Given the description of an element on the screen output the (x, y) to click on. 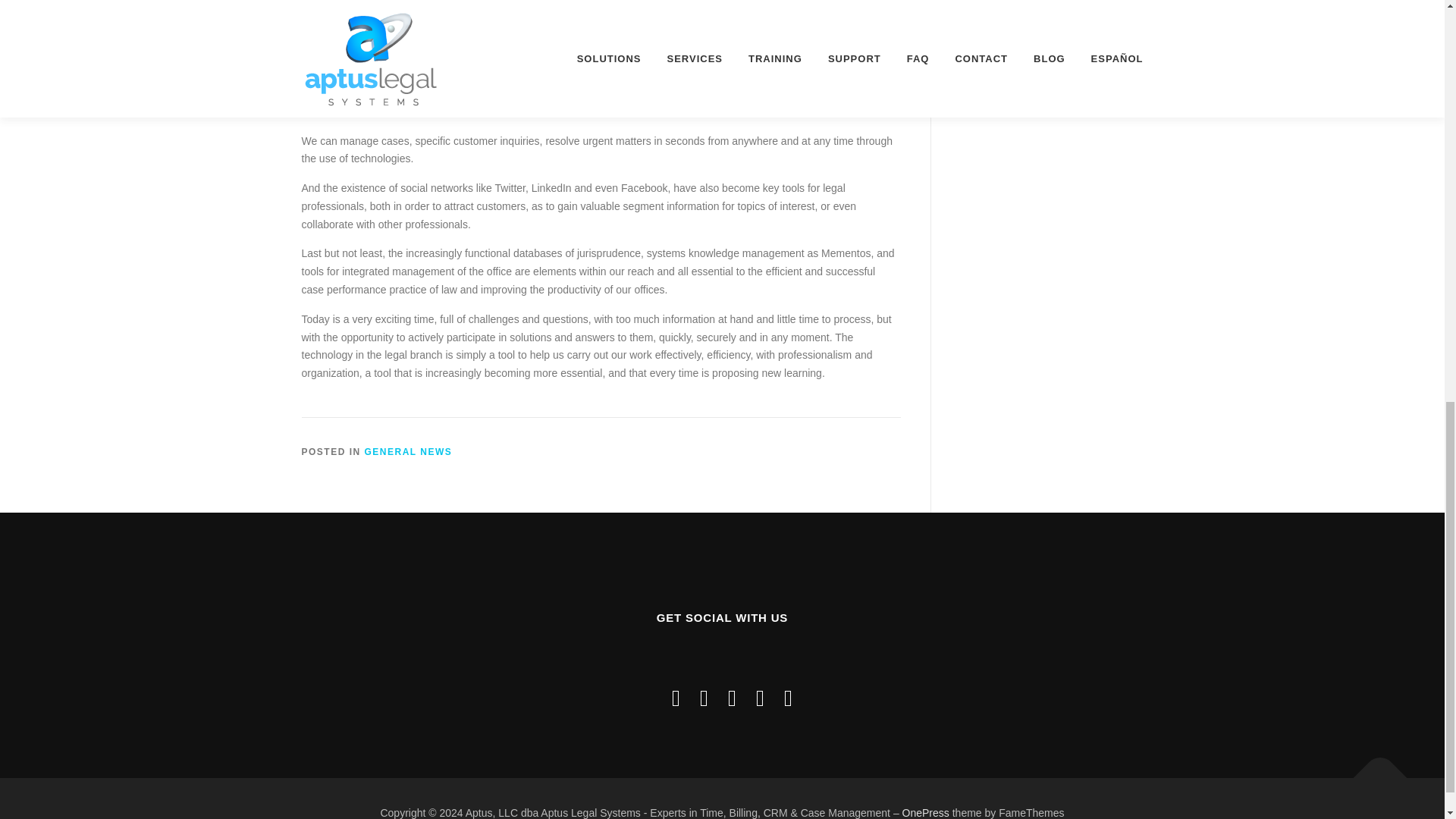
GET SOCIAL WITH US (721, 657)
GENERAL NEWS (408, 451)
Back To Top (1372, 770)
